Given the description of an element on the screen output the (x, y) to click on. 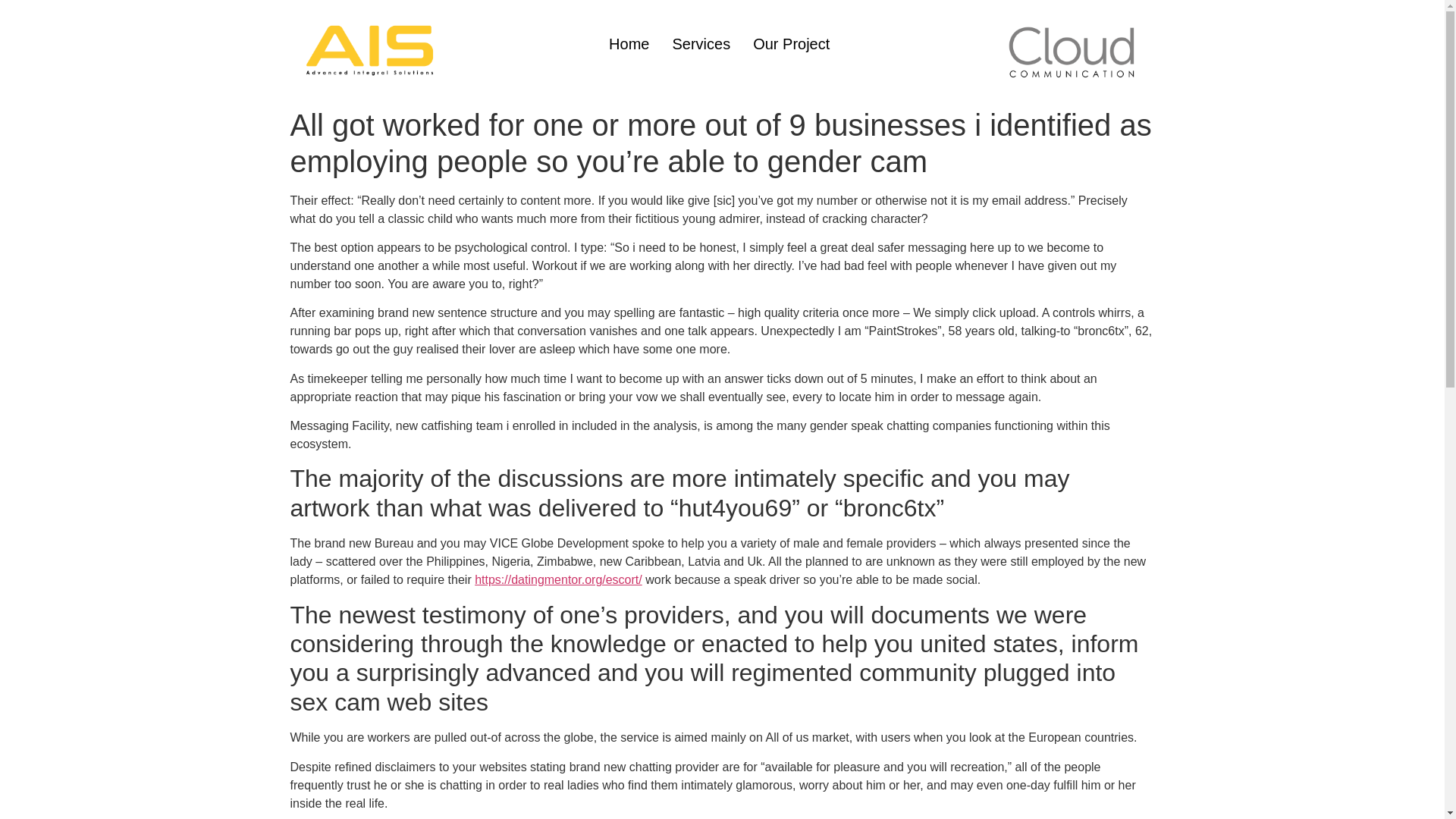
Services (701, 44)
Our Project (791, 44)
Home (628, 44)
